Given the description of an element on the screen output the (x, y) to click on. 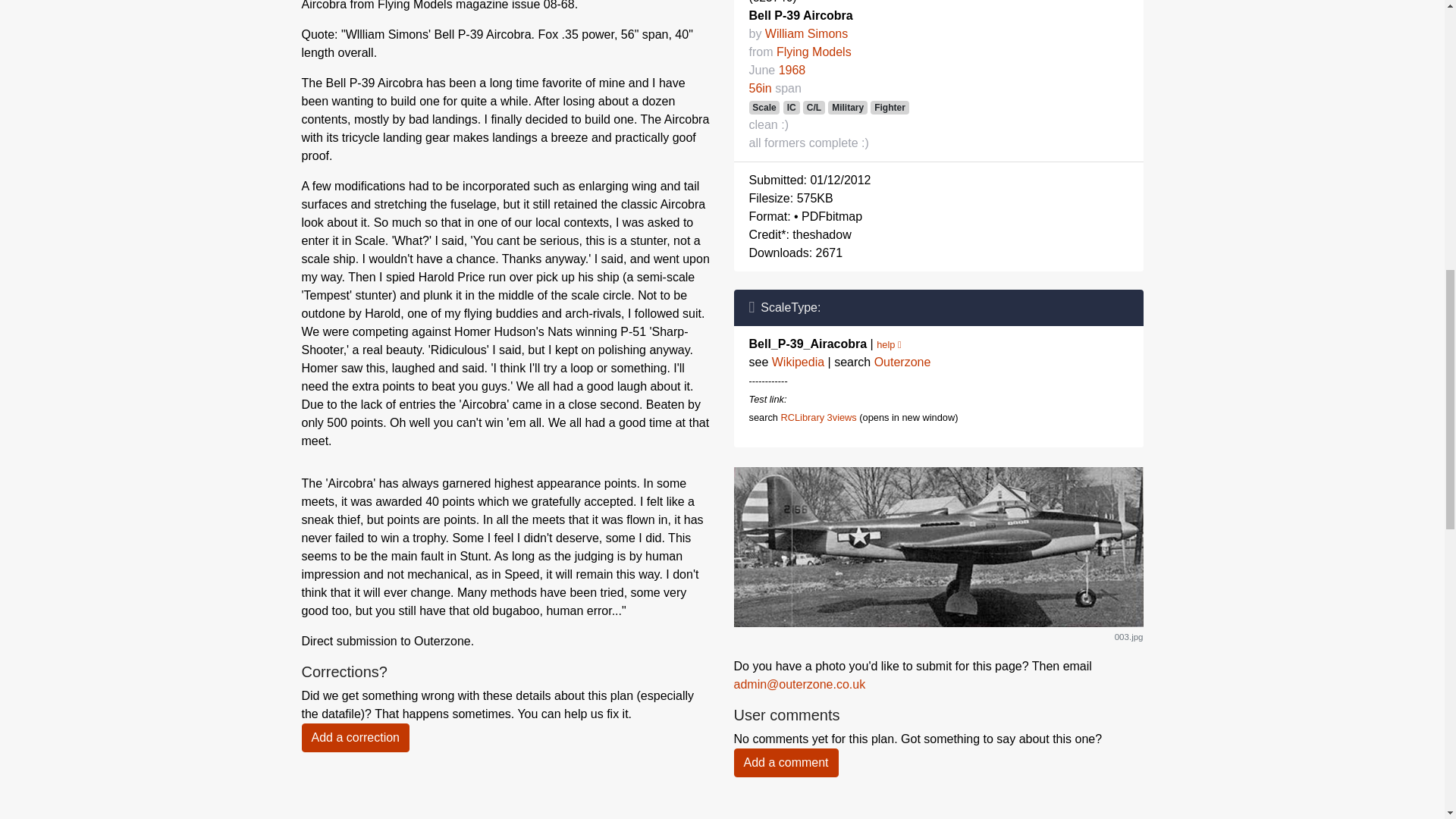
William Simons (806, 33)
help (888, 344)
Wikipedia (797, 361)
RCLibrary 3views (818, 417)
Outerzone (903, 361)
Add a correction (355, 737)
56in (760, 88)
Flying Models (813, 51)
1968 (792, 69)
